Given the description of an element on the screen output the (x, y) to click on. 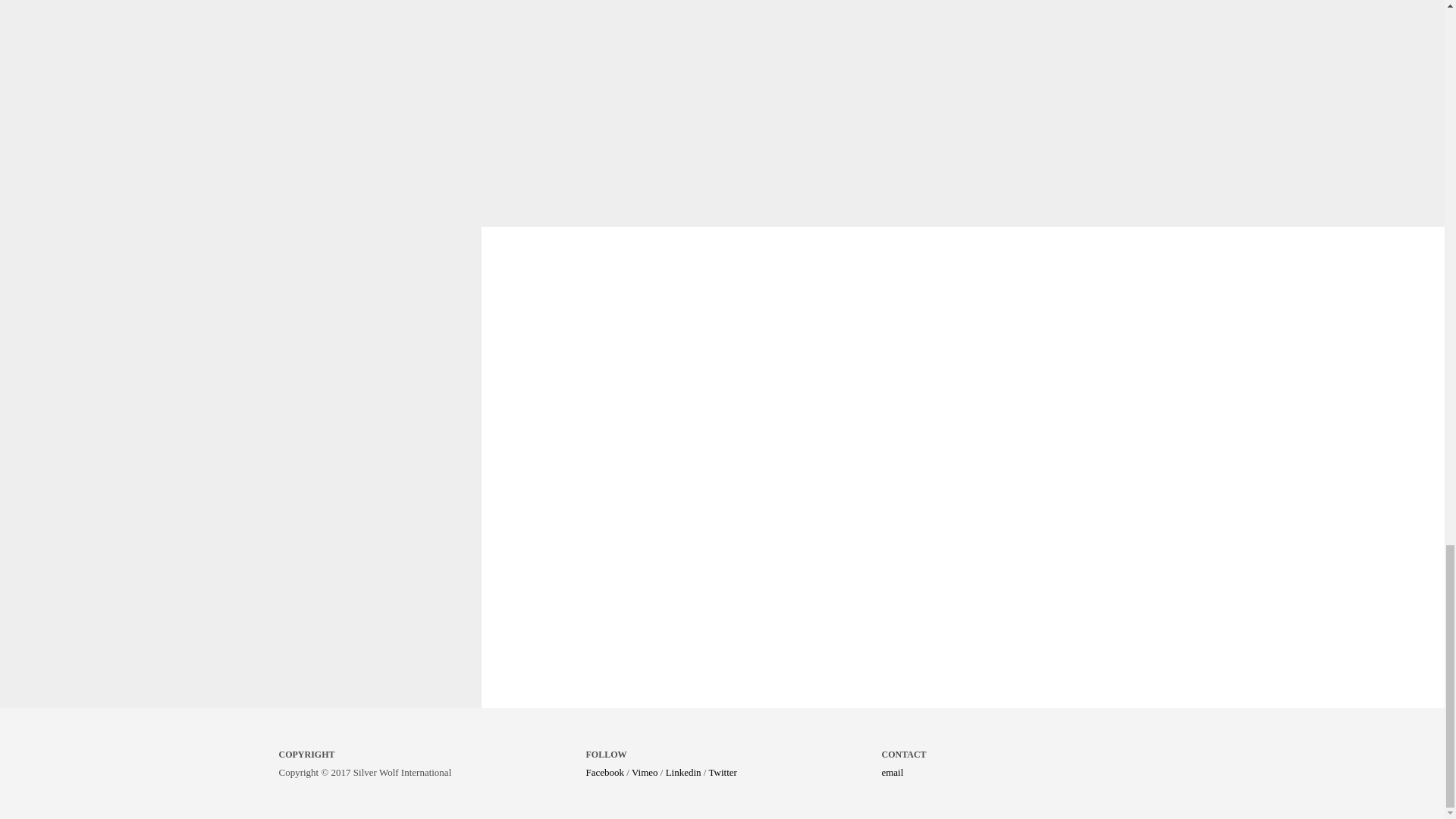
Linkedin (683, 772)
Facebook (604, 772)
Vimeo (644, 772)
Twitter (721, 772)
email (891, 772)
